Given the description of an element on the screen output the (x, y) to click on. 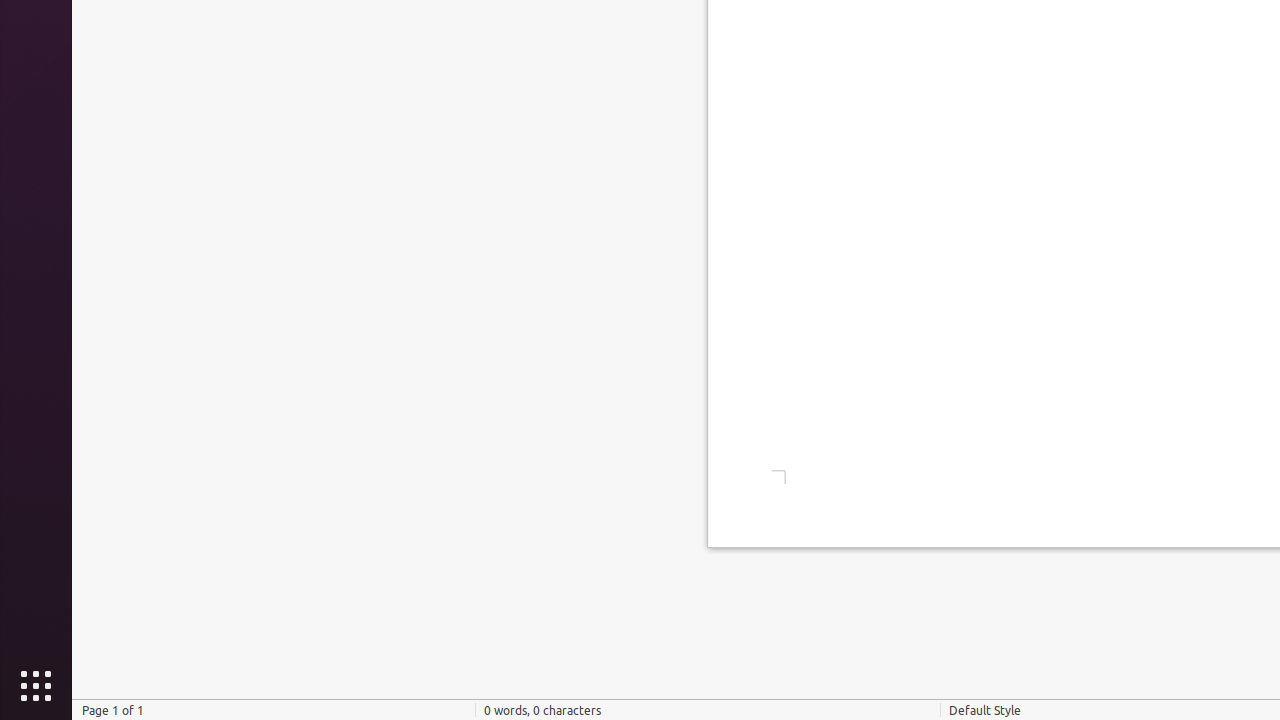
Show Applications Element type: toggle-button (36, 686)
